Given the description of an element on the screen output the (x, y) to click on. 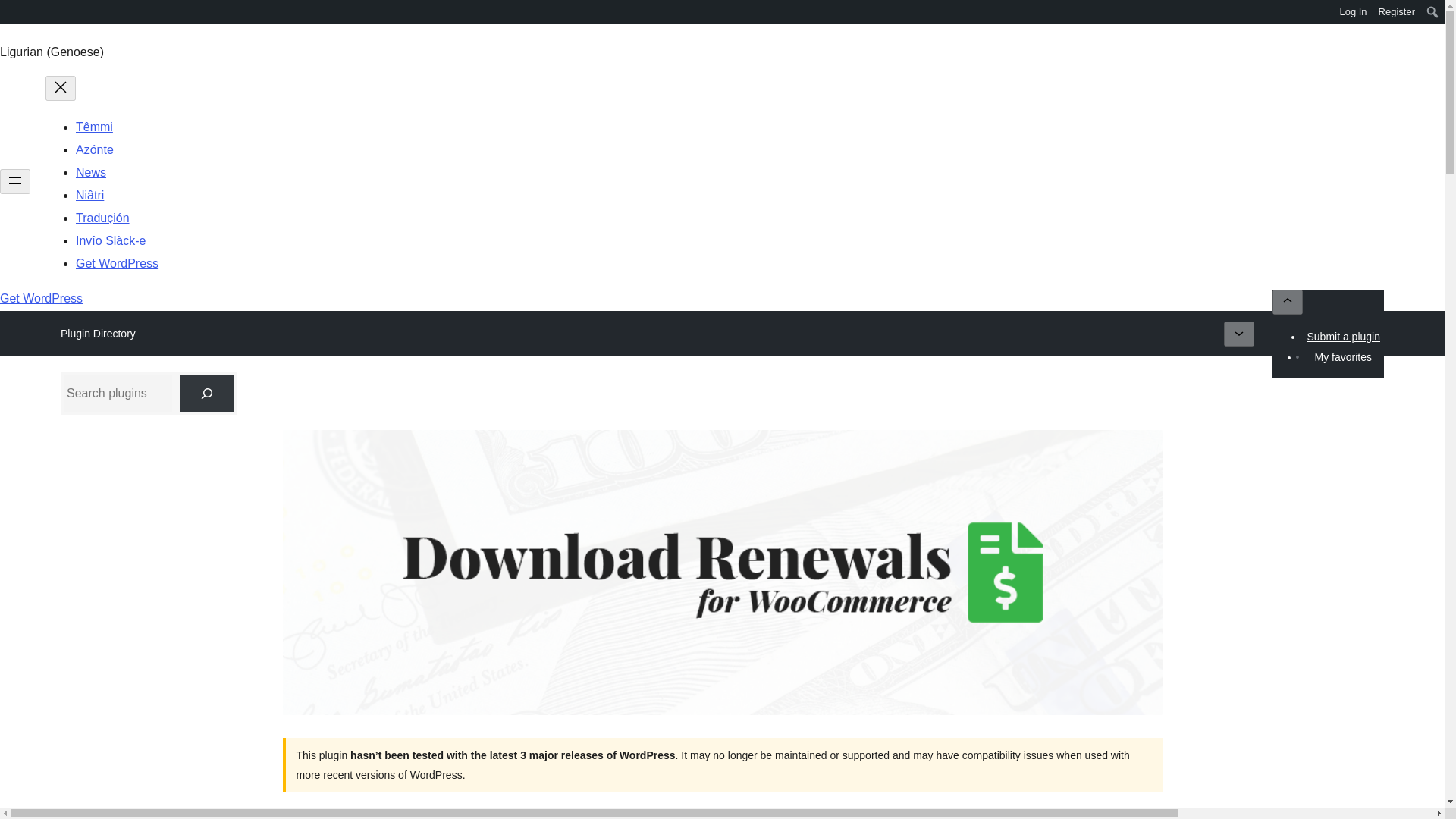
WordPress.org (10, 16)
News (90, 172)
Search (16, 13)
Get WordPress (41, 297)
Submit a plugin (1343, 336)
Plugin Directory (97, 333)
My favorites (1342, 356)
WordPress.org (10, 10)
Register (1397, 12)
Log In (1353, 12)
Get WordPress (116, 263)
